Given the description of an element on the screen output the (x, y) to click on. 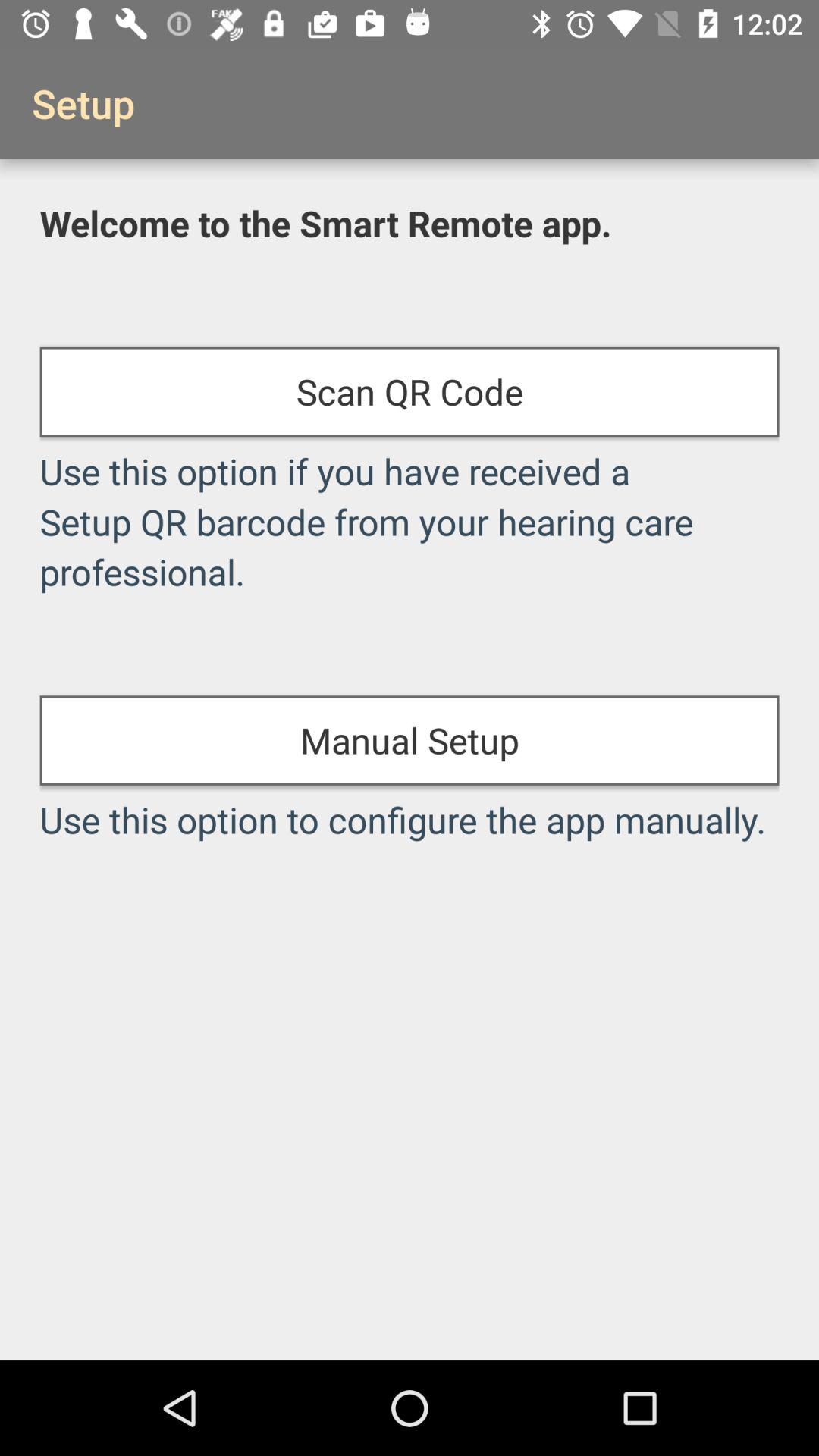
click manual setup (409, 740)
